Given the description of an element on the screen output the (x, y) to click on. 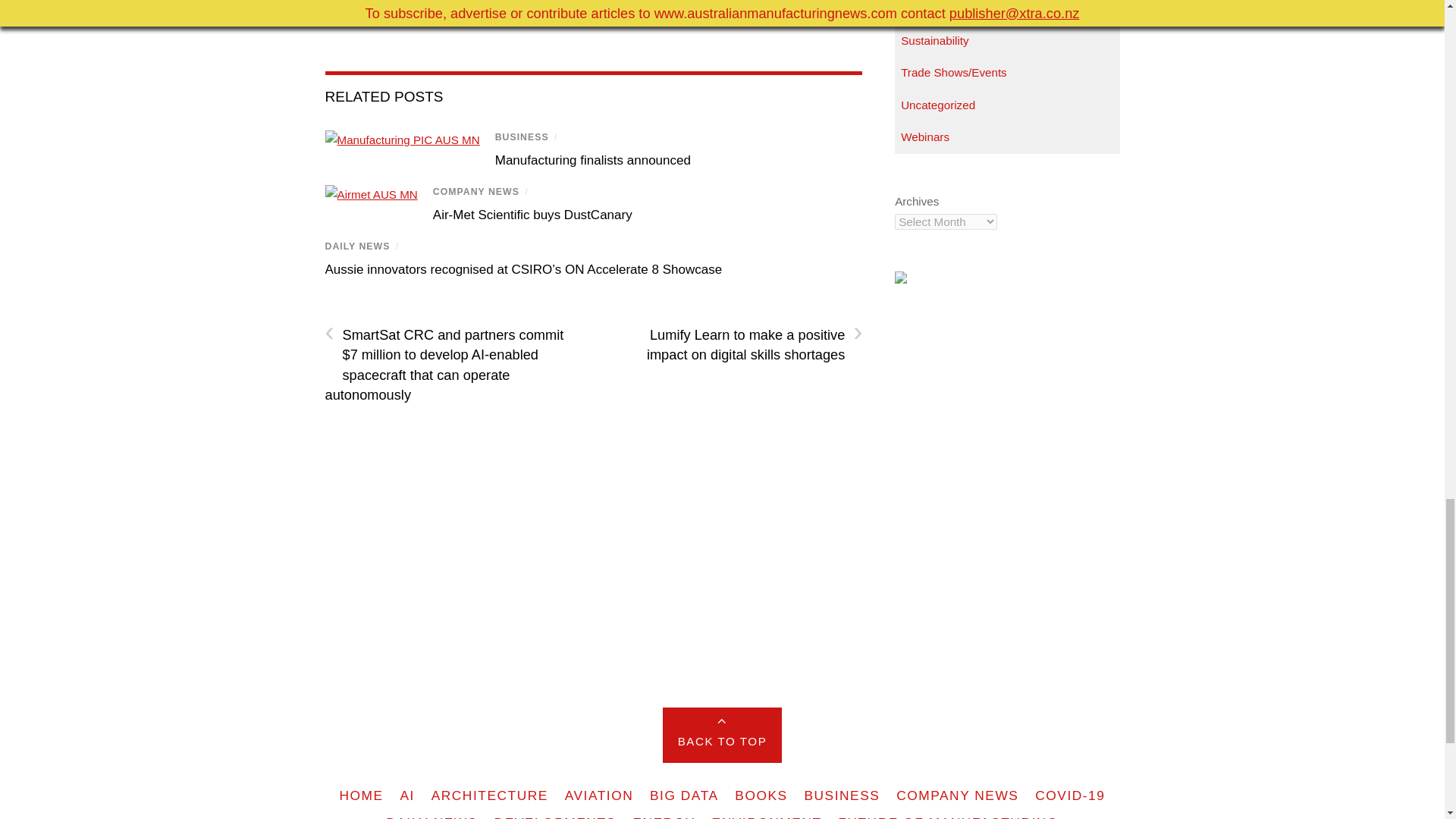
Manufacturing PIC AUS MN (401, 140)
